Given the description of an element on the screen output the (x, y) to click on. 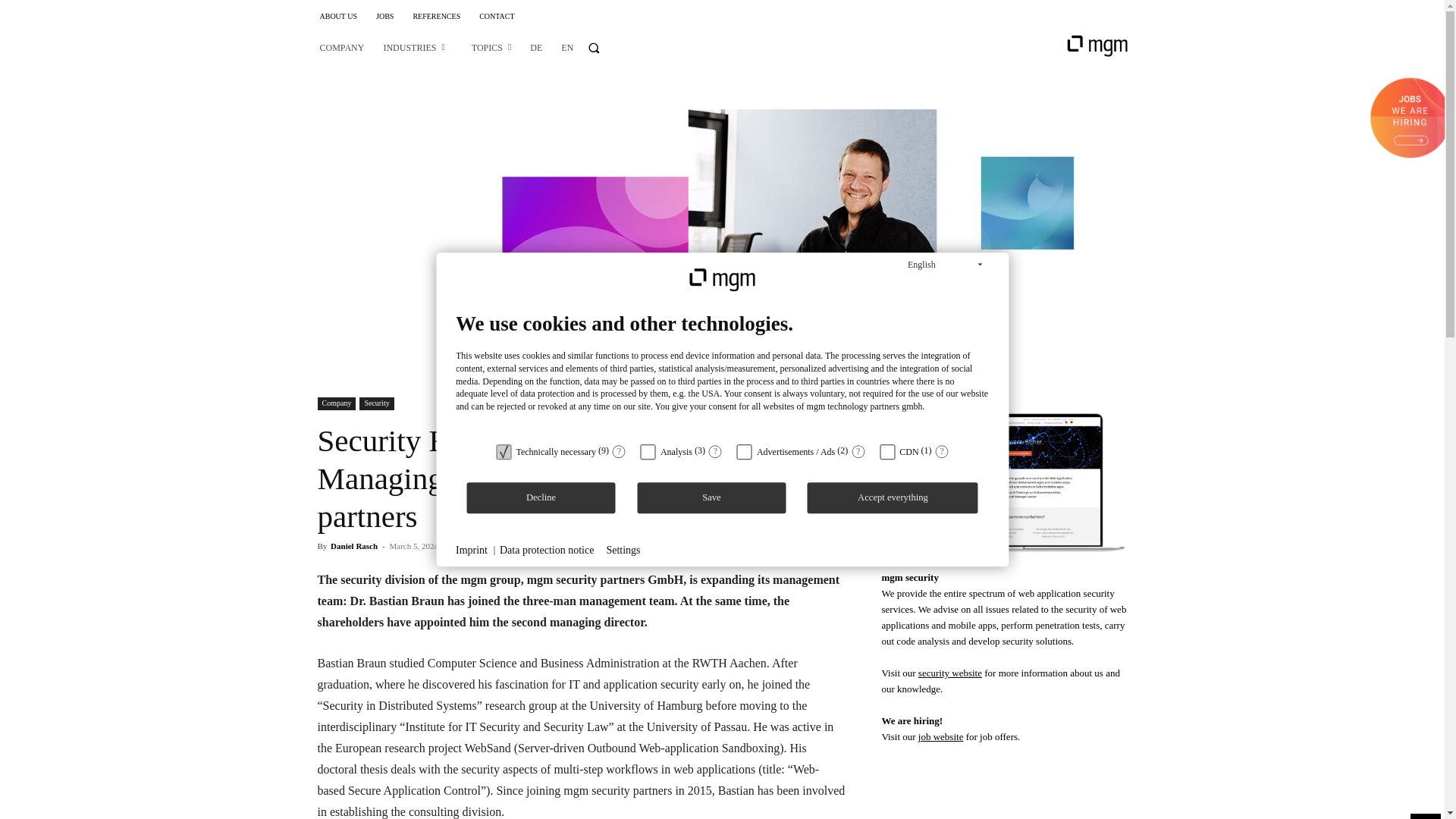
COMPANY (342, 47)
Details (619, 451)
CONTACT (496, 17)
ABOUT US (339, 17)
INDUSTRIES (413, 47)
TOPICS (491, 47)
REFERENCES (436, 17)
